Given the description of an element on the screen output the (x, y) to click on. 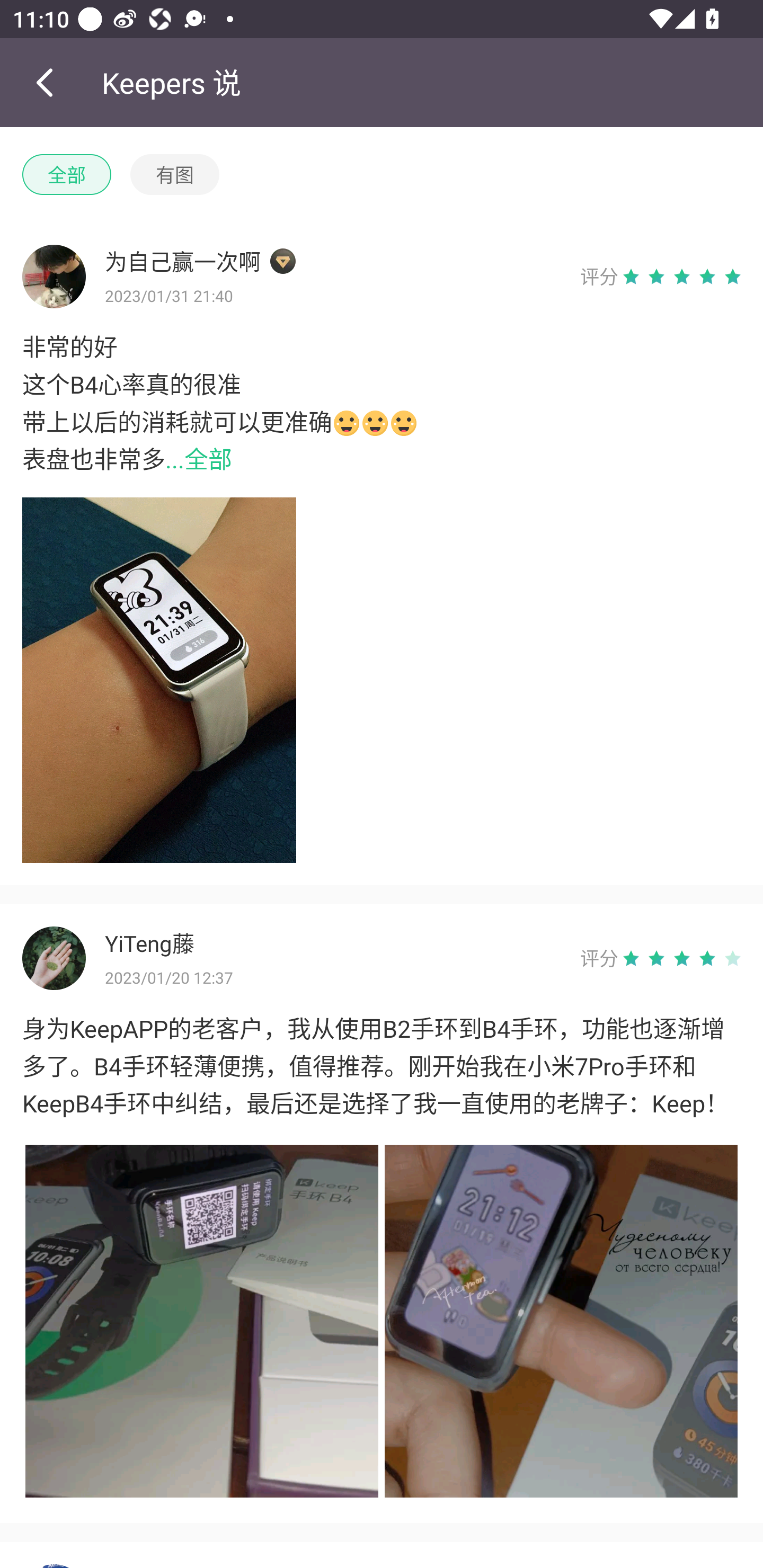
Left Button In Title Bar (50, 82)
全部 (66, 174)
有图 (174, 174)
为自己赢一次啊 (332, 248)
YiTeng藤 (332, 931)
